Given the description of an element on the screen output the (x, y) to click on. 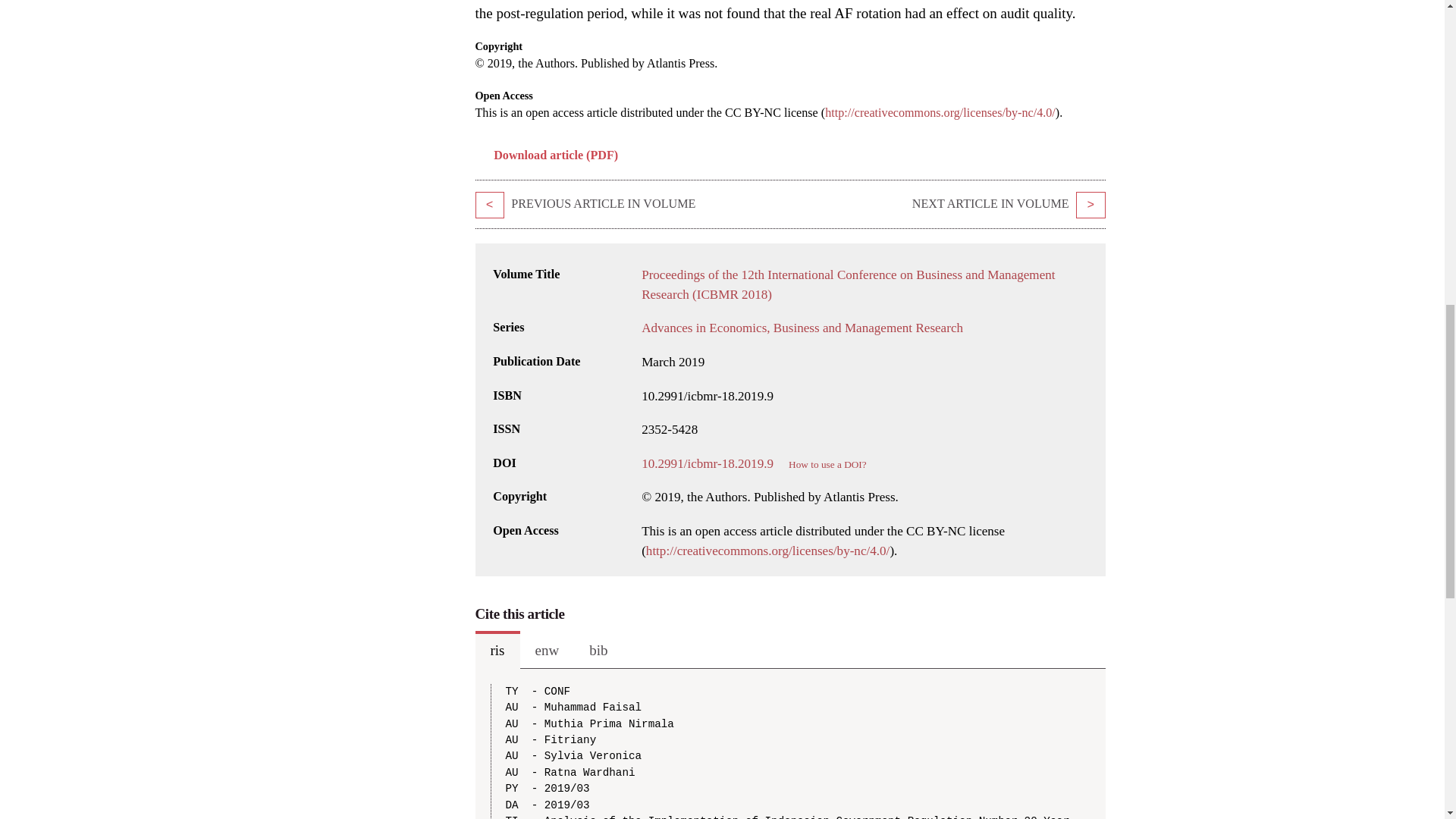
How to use a DOI? (827, 464)
Value Co-Creation: The Effect on Relationship Quality (1090, 204)
ris (496, 649)
Advances in Economics, Business and Management Research (802, 327)
bib (598, 649)
enw (547, 649)
